Given the description of an element on the screen output the (x, y) to click on. 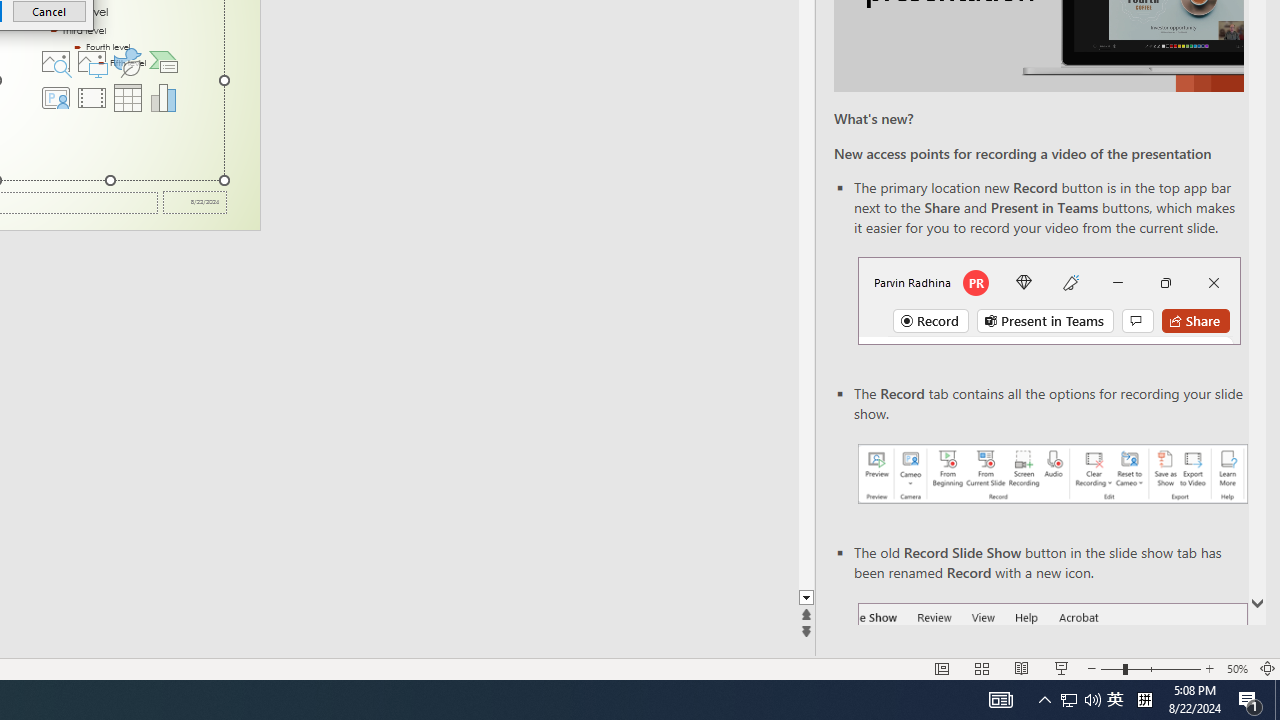
Record your presentations screenshot one (1052, 473)
